Given the description of an element on the screen output the (x, y) to click on. 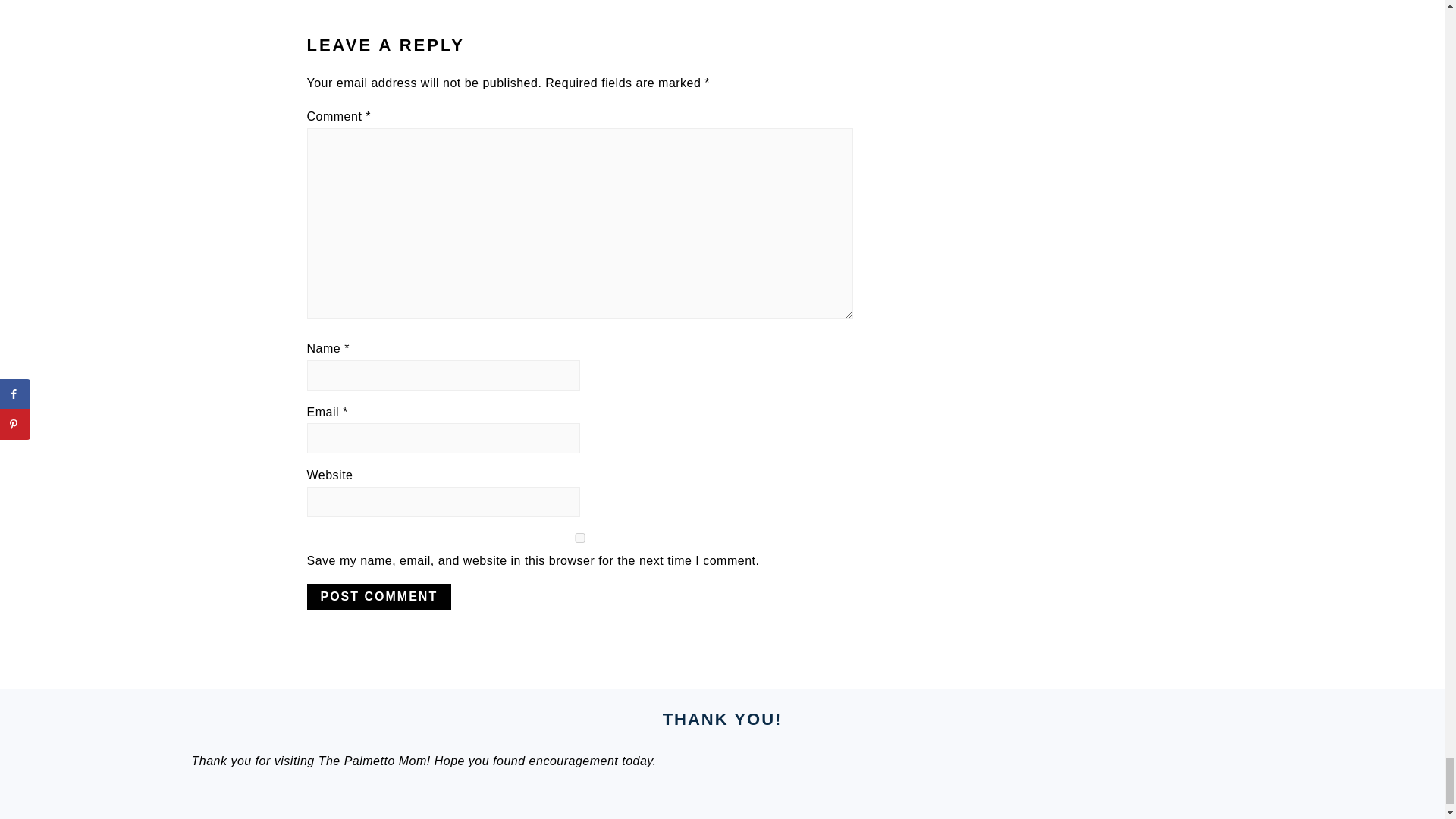
yes (578, 537)
Post Comment (378, 596)
